Given the description of an element on the screen output the (x, y) to click on. 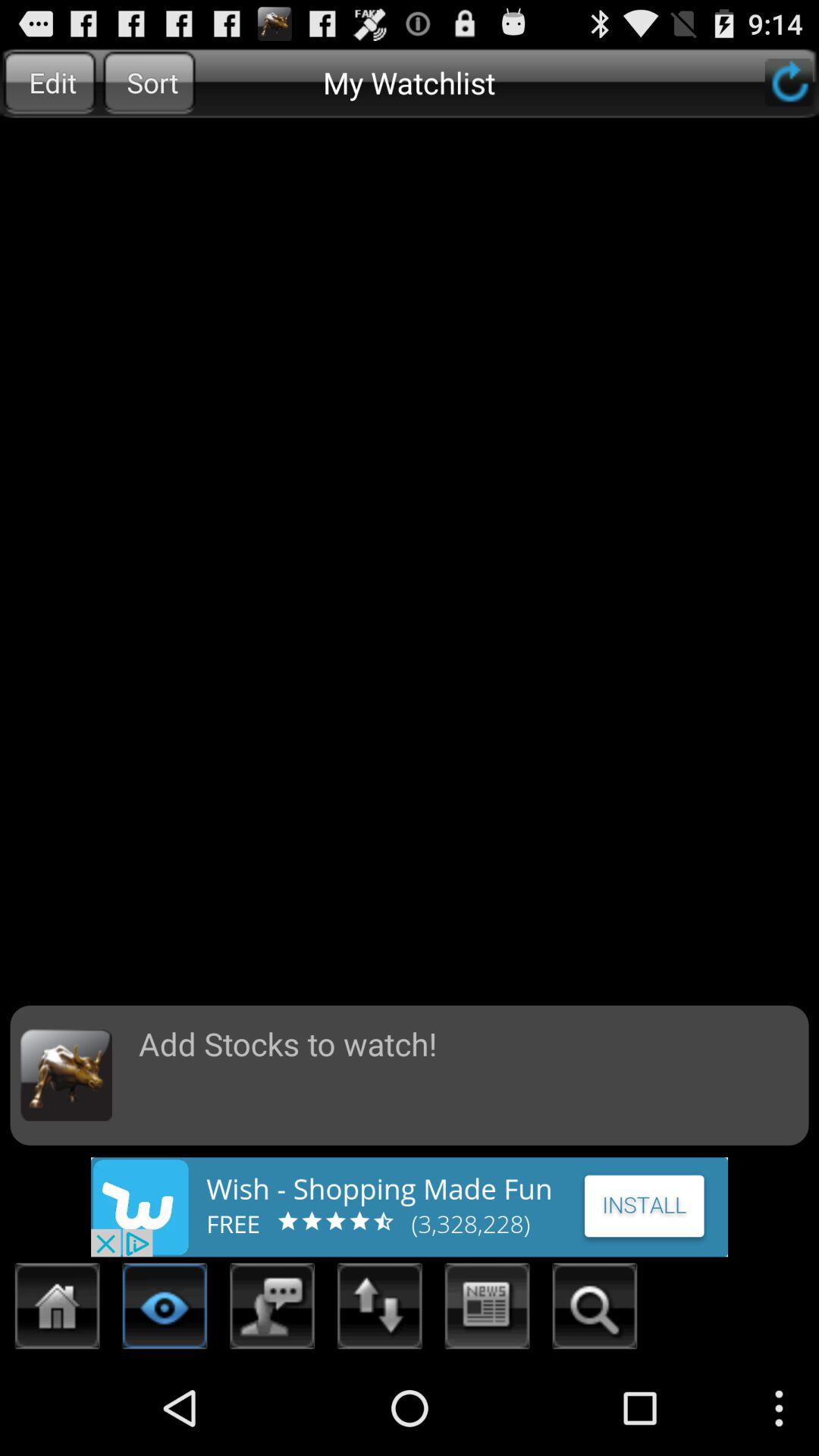
refresh (788, 82)
